Given the description of an element on the screen output the (x, y) to click on. 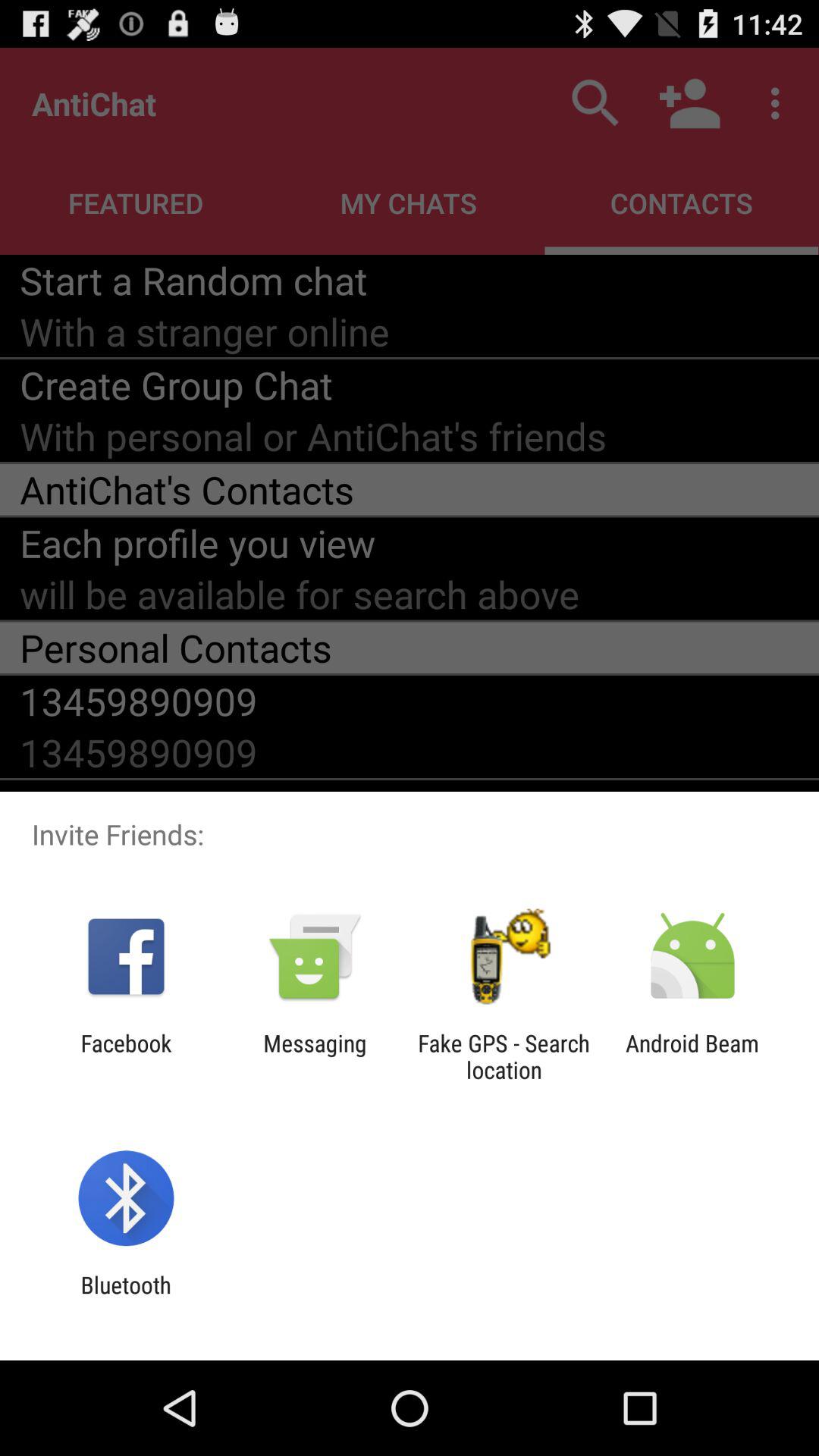
choose android beam at the bottom right corner (692, 1056)
